Given the description of an element on the screen output the (x, y) to click on. 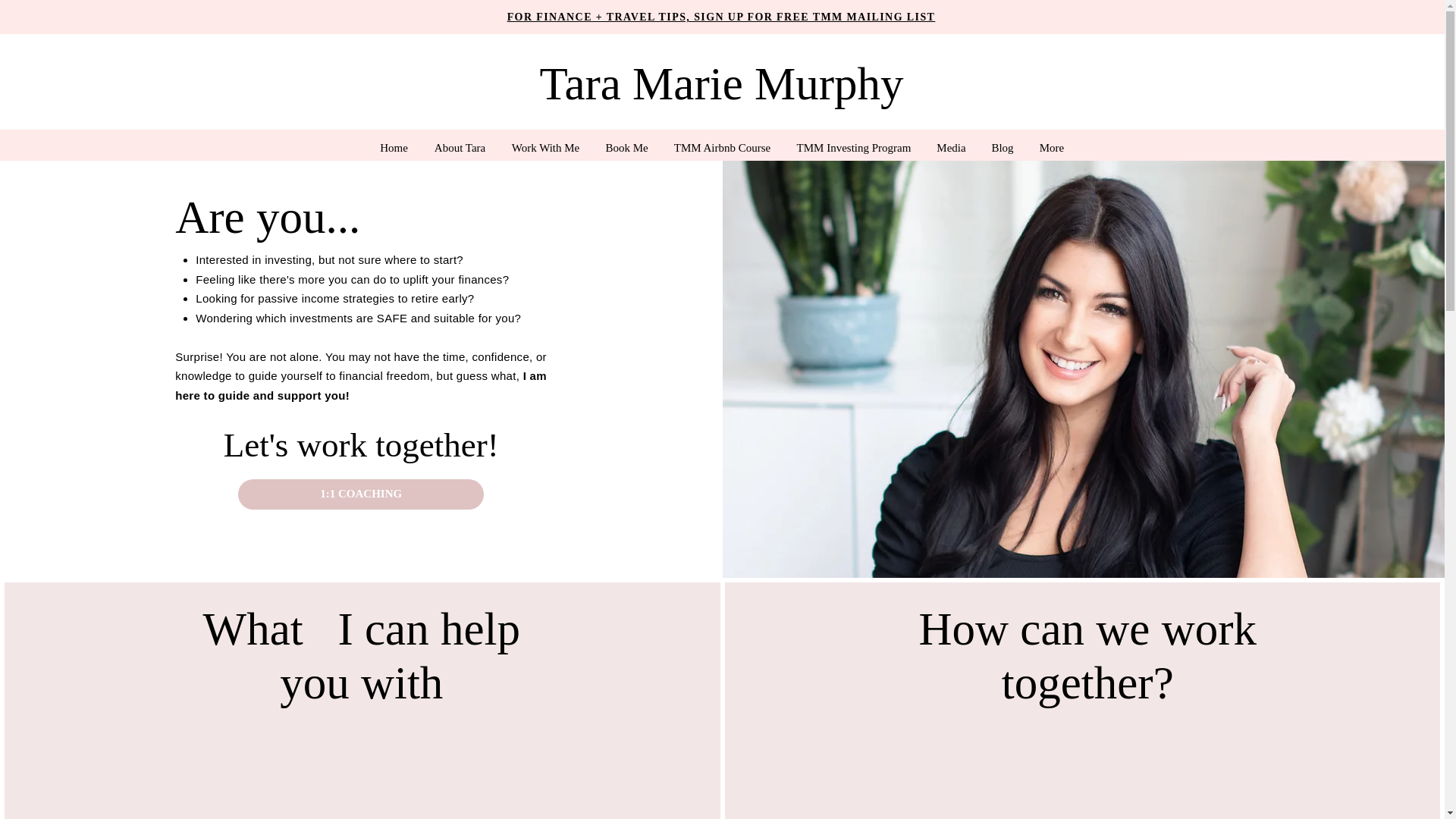
Home (394, 148)
TMM Airbnb Course (722, 148)
About Tara (460, 148)
1:1 COACHING (360, 494)
TMM Investing Program (854, 148)
Work With Me (545, 148)
Book Me (626, 148)
Blog (1002, 148)
Tara Marie Murphy (720, 82)
Media (950, 148)
